Given the description of an element on the screen output the (x, y) to click on. 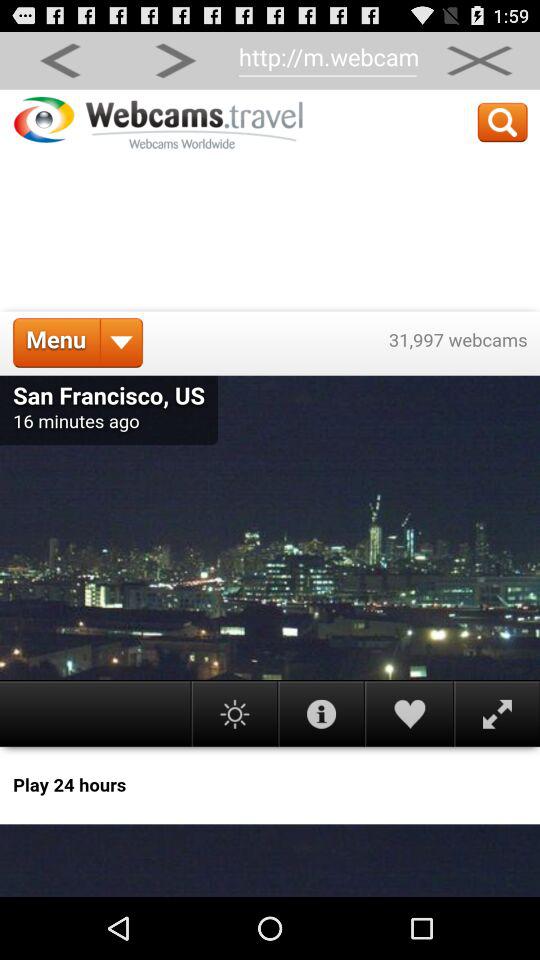
navigate app (270, 493)
